Given the description of an element on the screen output the (x, y) to click on. 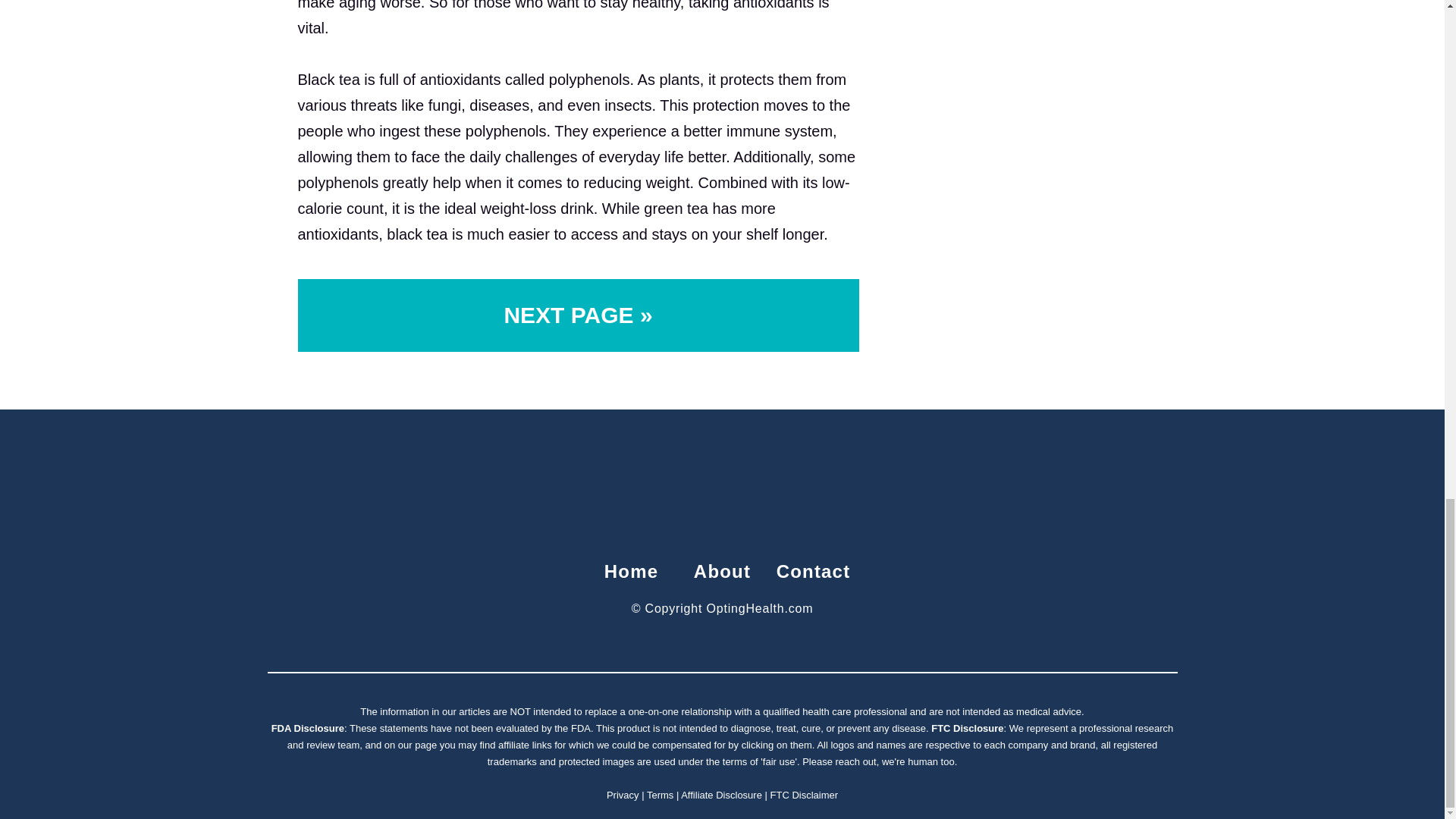
Terms (659, 794)
About (722, 571)
FTC Disclaimer (804, 794)
Affiliate Disclosure (721, 794)
Home (631, 571)
Privacy (623, 794)
Contact (813, 571)
OptingHealth (721, 483)
